Given the description of an element on the screen output the (x, y) to click on. 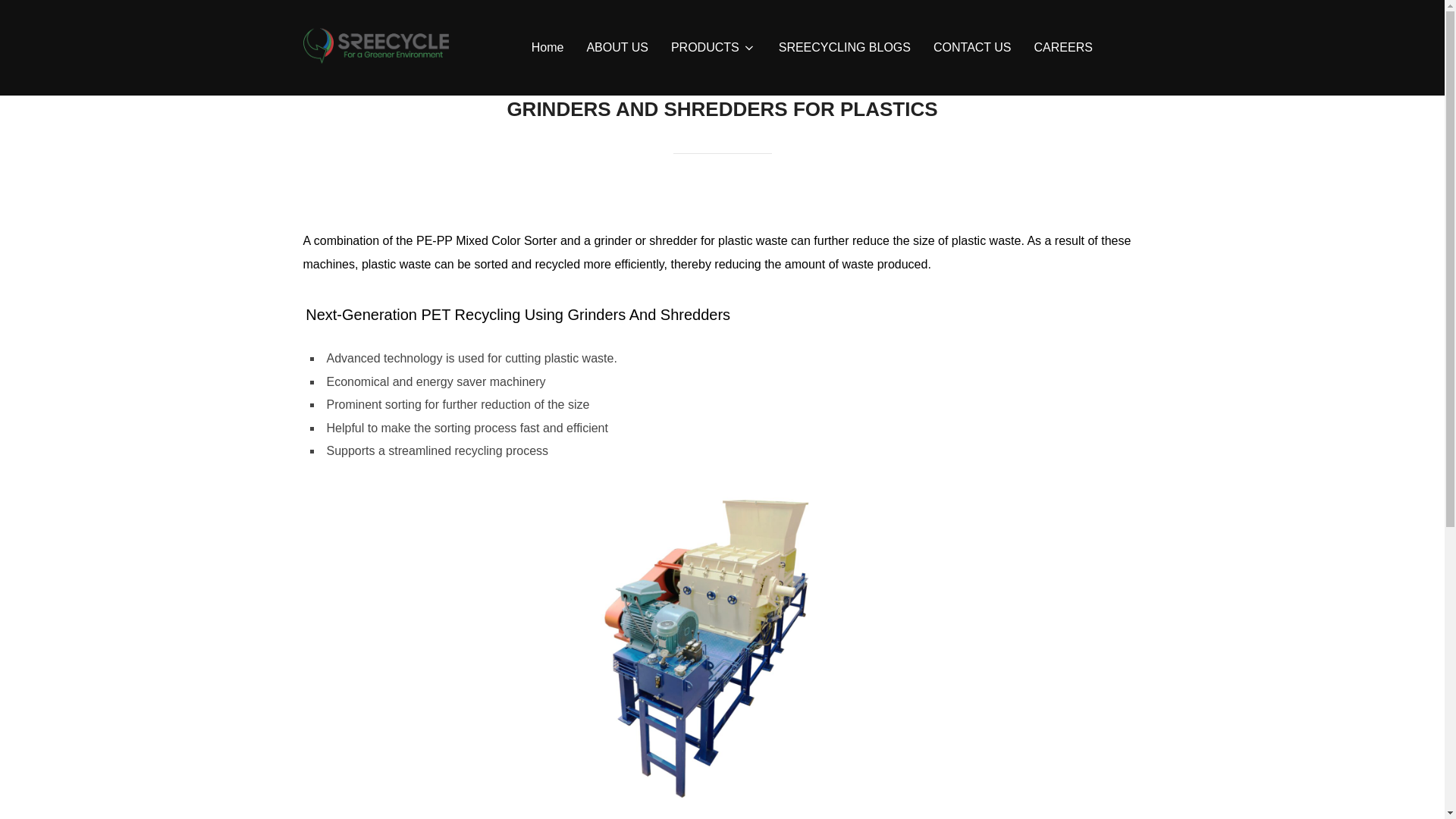
ABOUT US (616, 47)
Home (547, 47)
PRODUCTS (713, 47)
